Given the description of an element on the screen output the (x, y) to click on. 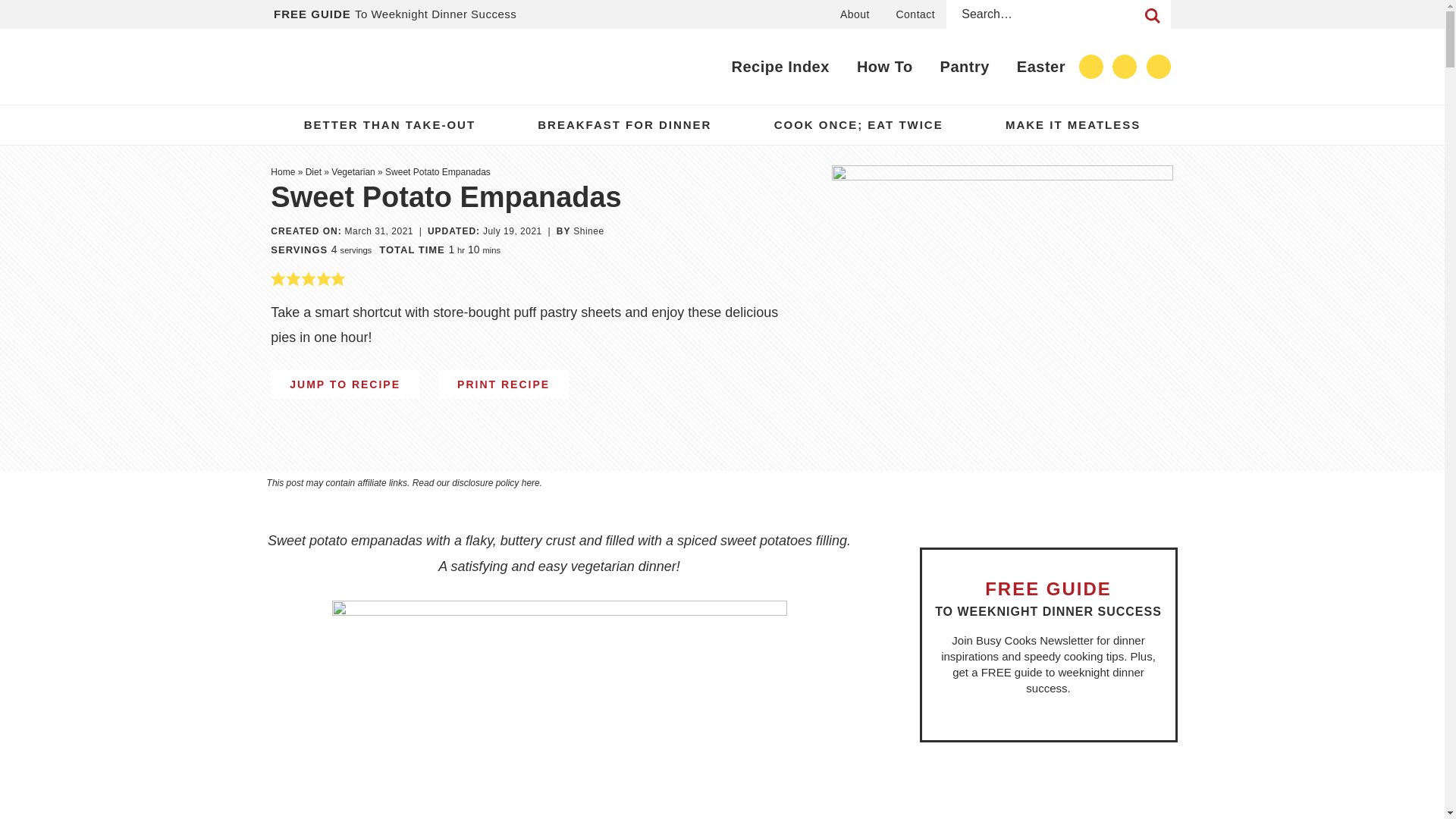
COOK ONCE; EAT TWICE (857, 124)
Contact (914, 13)
Diet (313, 172)
JUMP TO RECIPE (344, 384)
BREAKFAST FOR DINNER (624, 124)
BETTER THAN TAKE-OUT (390, 124)
Pantry (964, 66)
Shinee (588, 231)
PRINT RECIPE (503, 384)
